Given the description of an element on the screen output the (x, y) to click on. 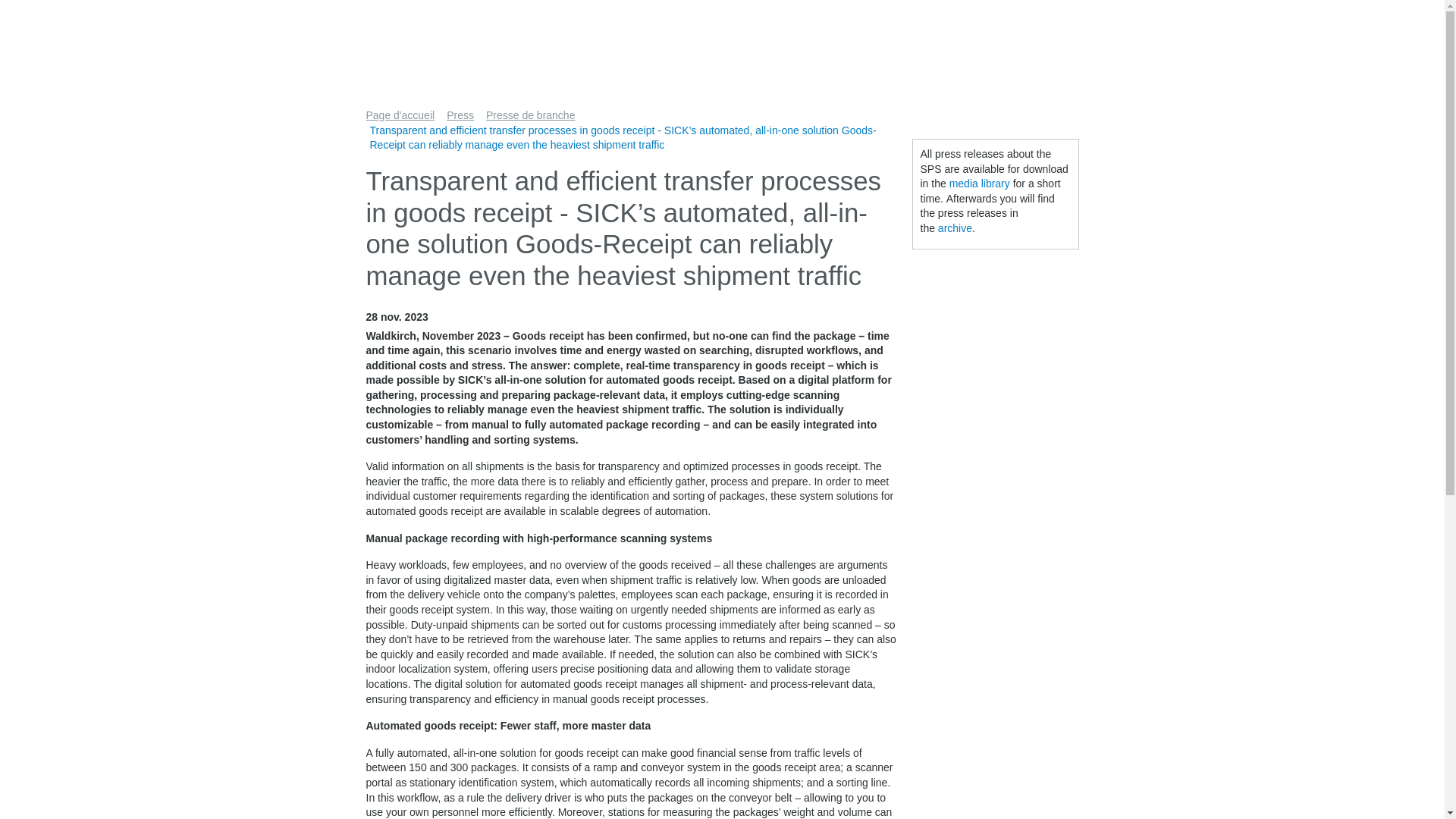
Press (463, 115)
Page d'accueil (403, 115)
Presse de branche (534, 115)
media library (979, 183)
archive (954, 227)
